Given the description of an element on the screen output the (x, y) to click on. 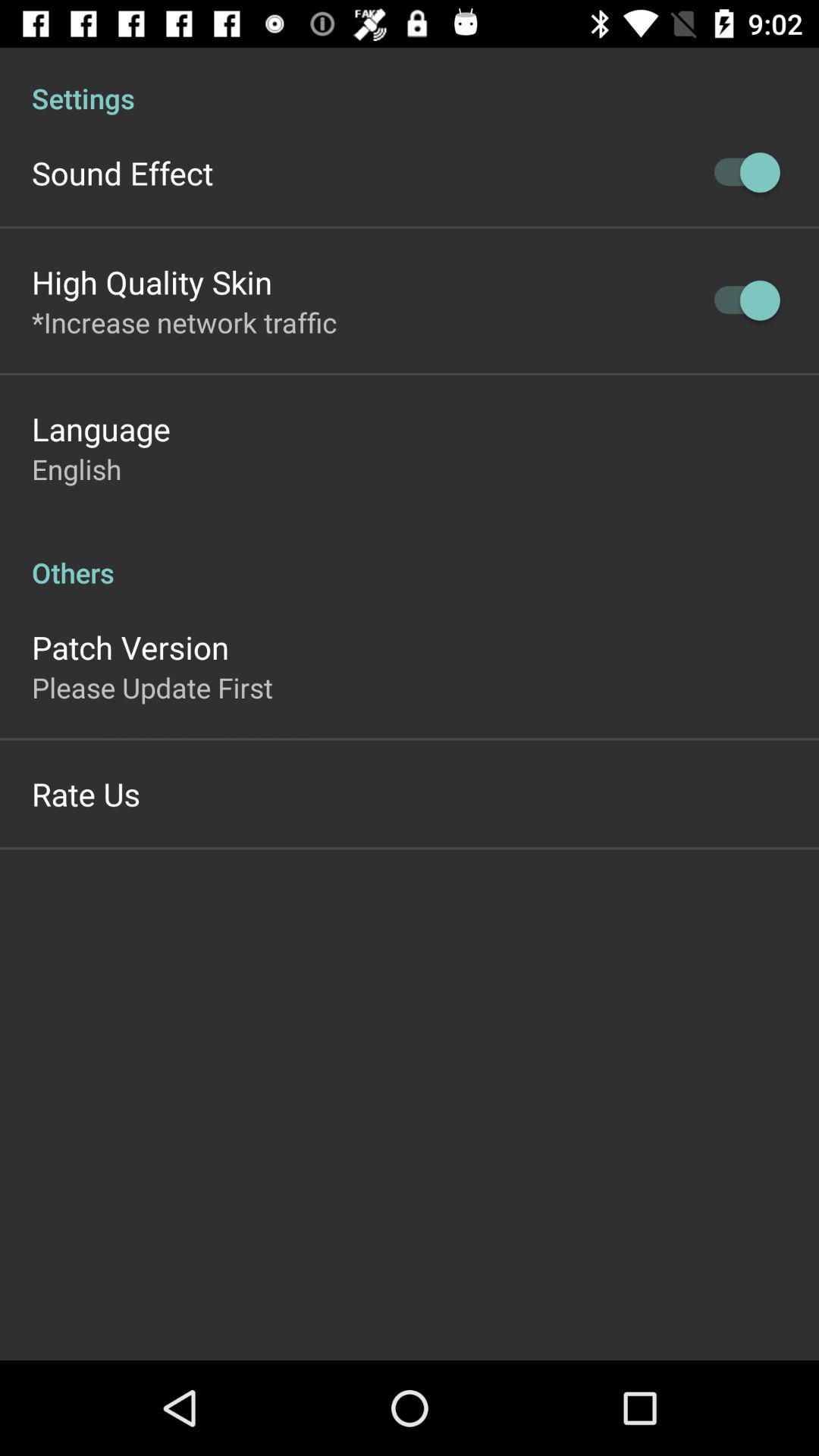
flip until high quality skin item (151, 281)
